Given the description of an element on the screen output the (x, y) to click on. 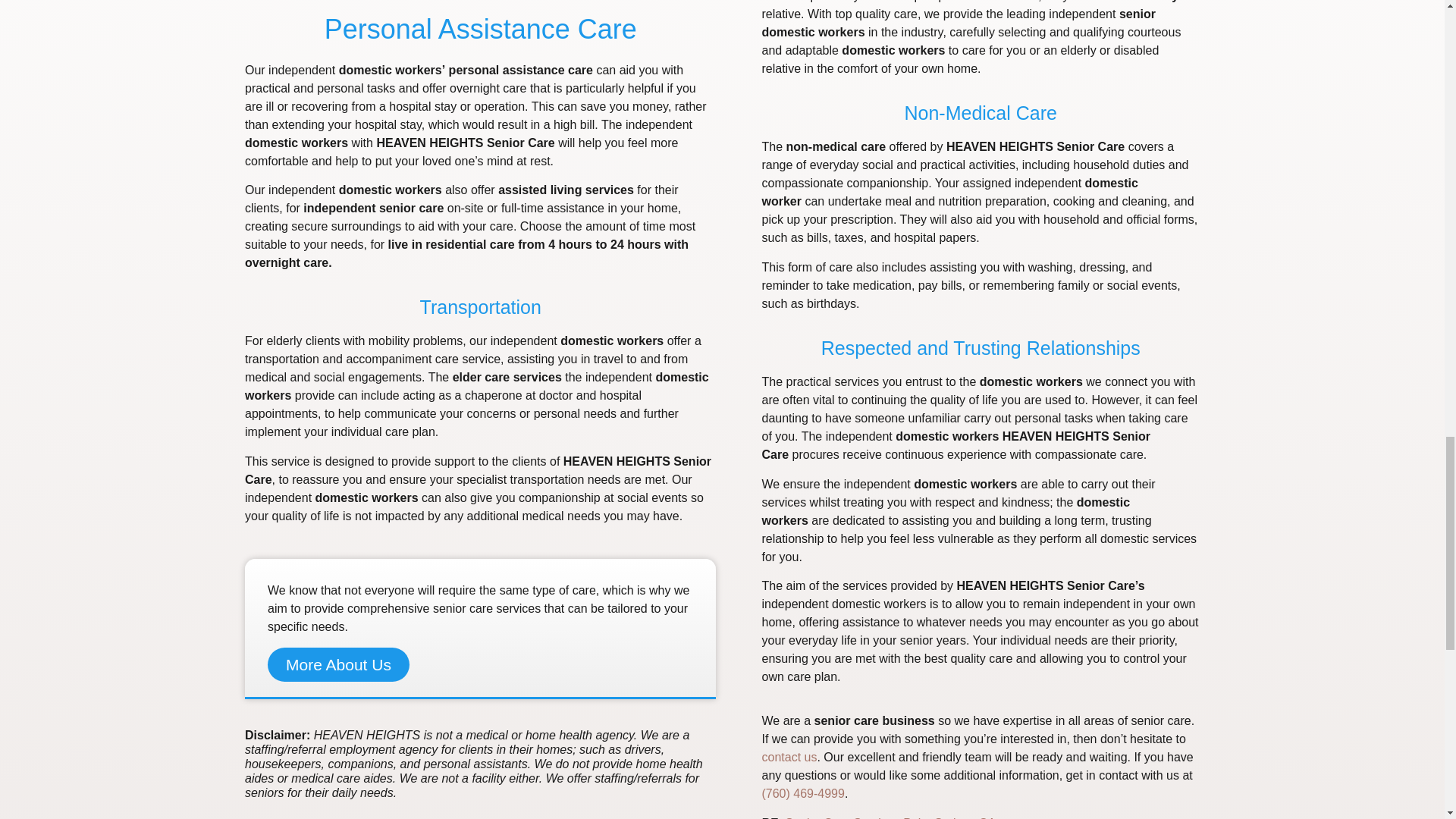
Senior Care Services Palm Springs CA (890, 817)
In Home care Services Carlsbad CA (890, 817)
More About Us (338, 664)
contact us (788, 757)
